Given the description of an element on the screen output the (x, y) to click on. 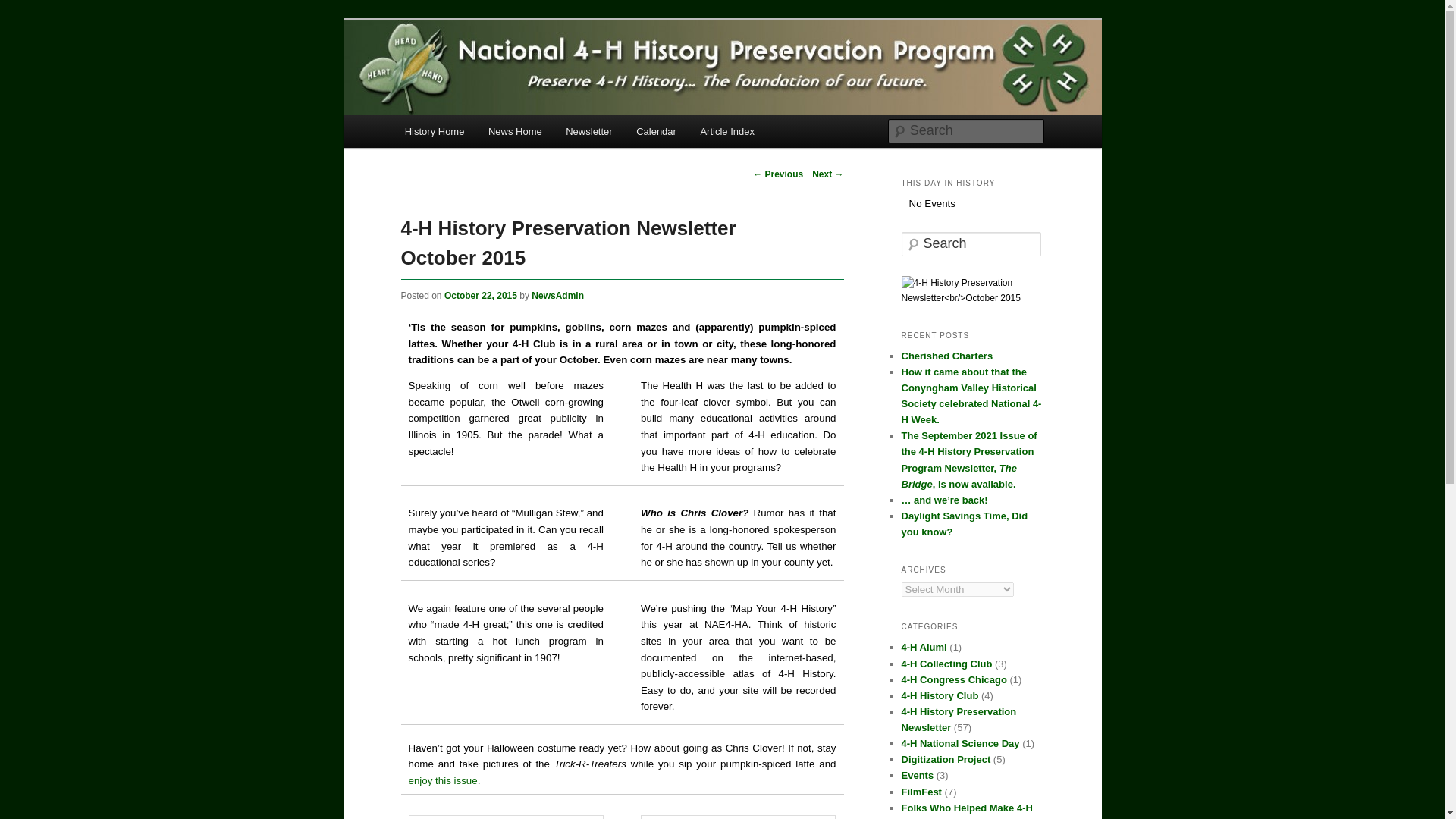
8:30 am (480, 295)
Search (21, 7)
News Home (514, 131)
Article Index (727, 131)
4-H Alumi (923, 646)
October 22, 2015 (480, 295)
enjoy this issue (442, 780)
4-H Collecting Club (946, 663)
NewsAdmin (557, 295)
4-H History Preservation News (566, 84)
Daylight Savings Time, Did you know? (964, 523)
History Home (434, 131)
4-H History Club (939, 695)
